Given the description of an element on the screen output the (x, y) to click on. 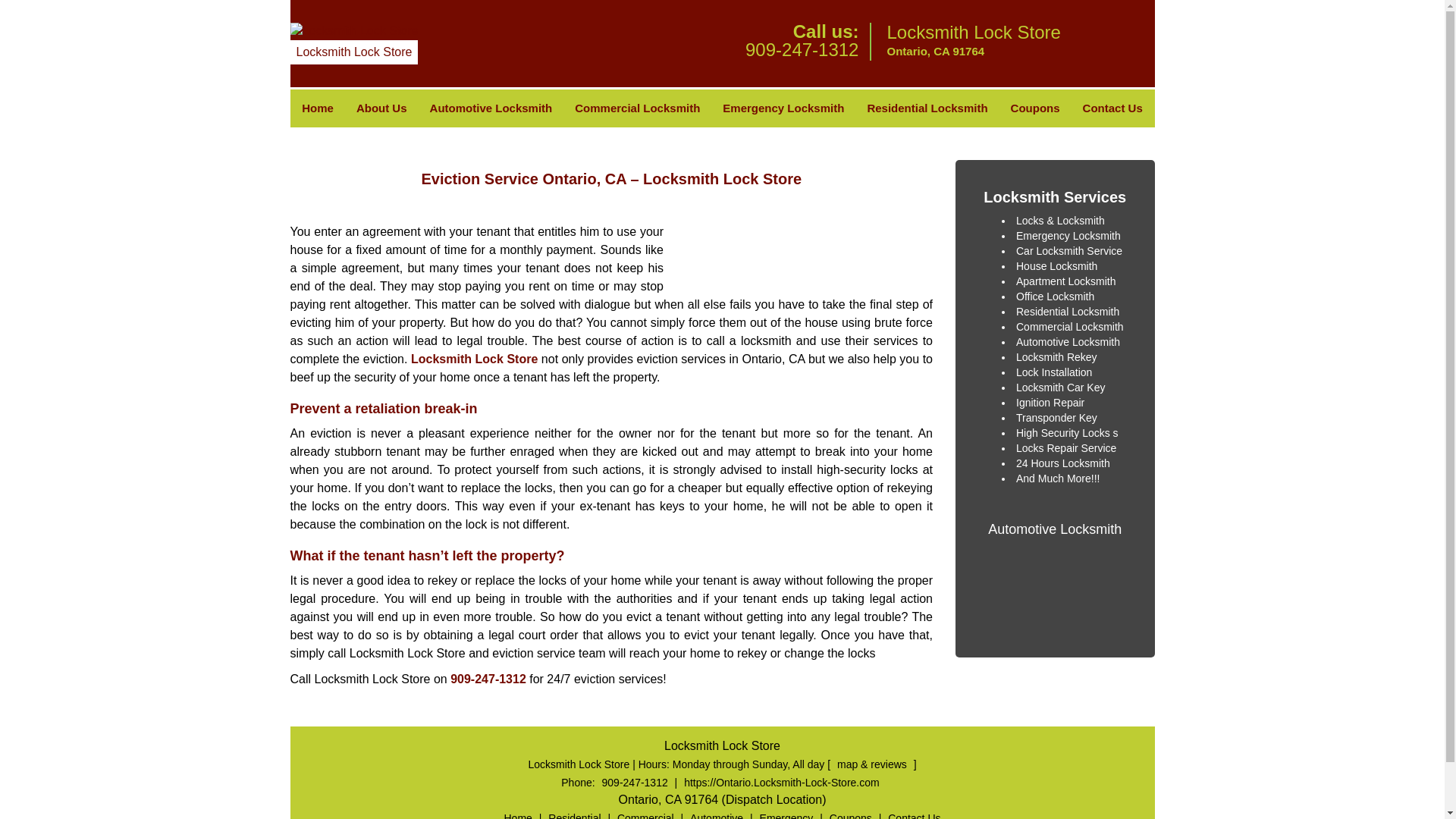
Commercial (645, 815)
909-247-1312 (634, 782)
Contact Us (1112, 108)
909-247-1312 (802, 49)
Residential Locksmith (927, 108)
Coupons (850, 815)
About Us (382, 108)
Coupons (1034, 108)
Home (517, 815)
Automotive Locksmith (491, 108)
